Given the description of an element on the screen output the (x, y) to click on. 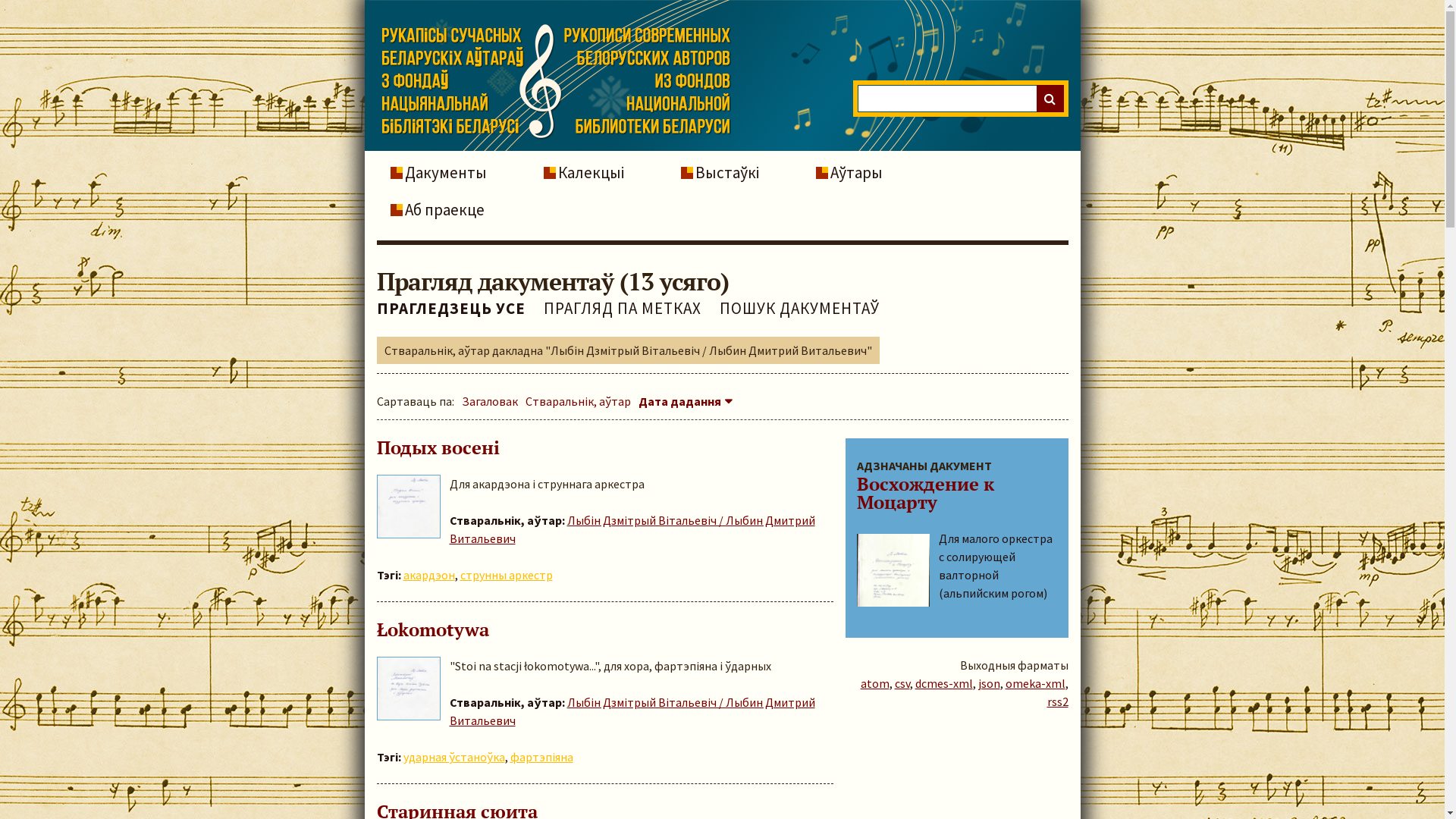
json Element type: text (989, 682)
atom Element type: text (873, 682)
dcmes-xml Element type: text (943, 682)
rss2 Element type: text (1056, 701)
omeka-xml Element type: text (1035, 682)
csv Element type: text (902, 682)
